Given the description of an element on the screen output the (x, y) to click on. 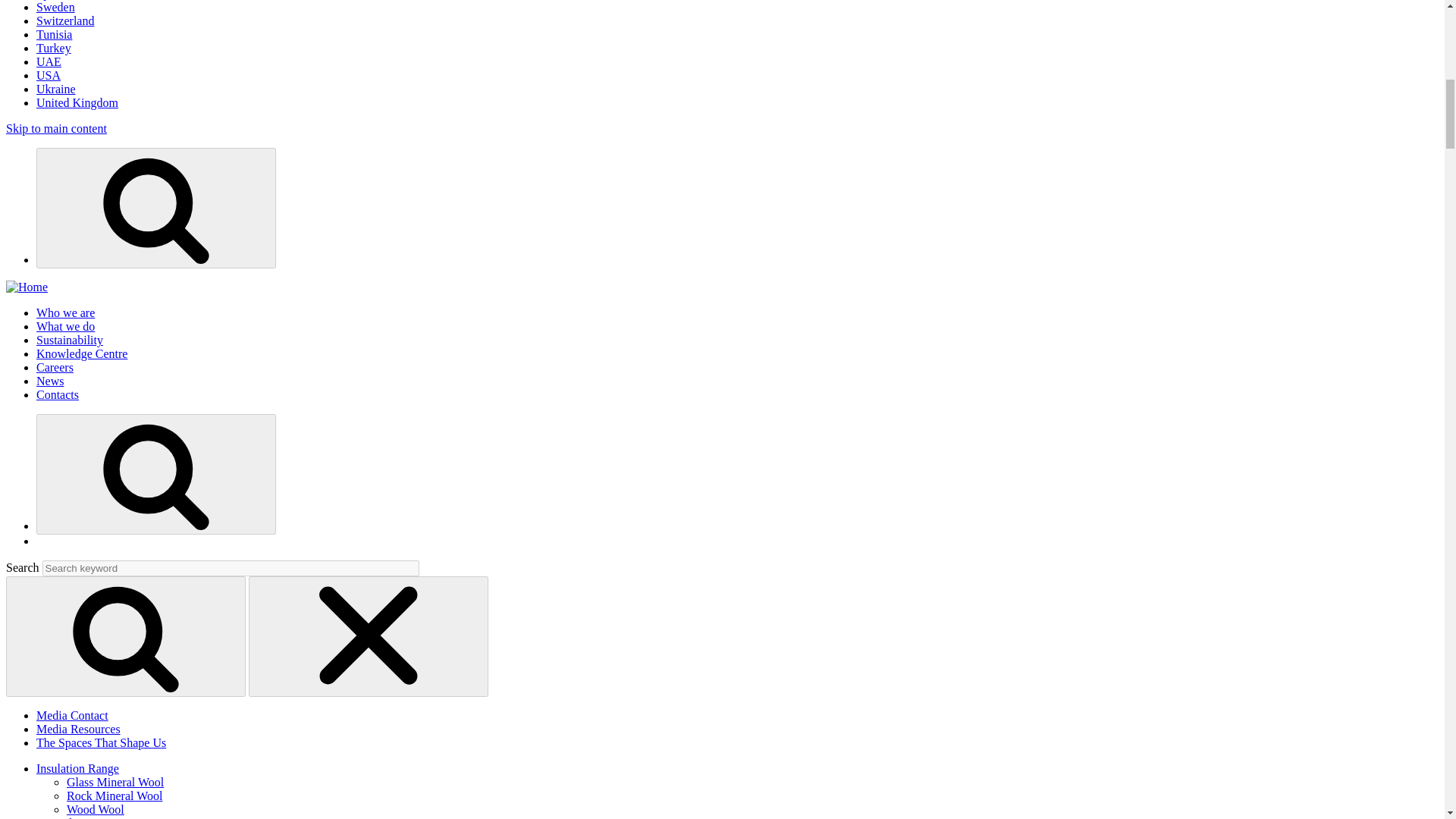
Search Click on this image to search (155, 472)
Search (125, 635)
Search Click on this image to search (155, 206)
Home (26, 286)
Close search Click on this image to close search (367, 635)
